Given the description of an element on the screen output the (x, y) to click on. 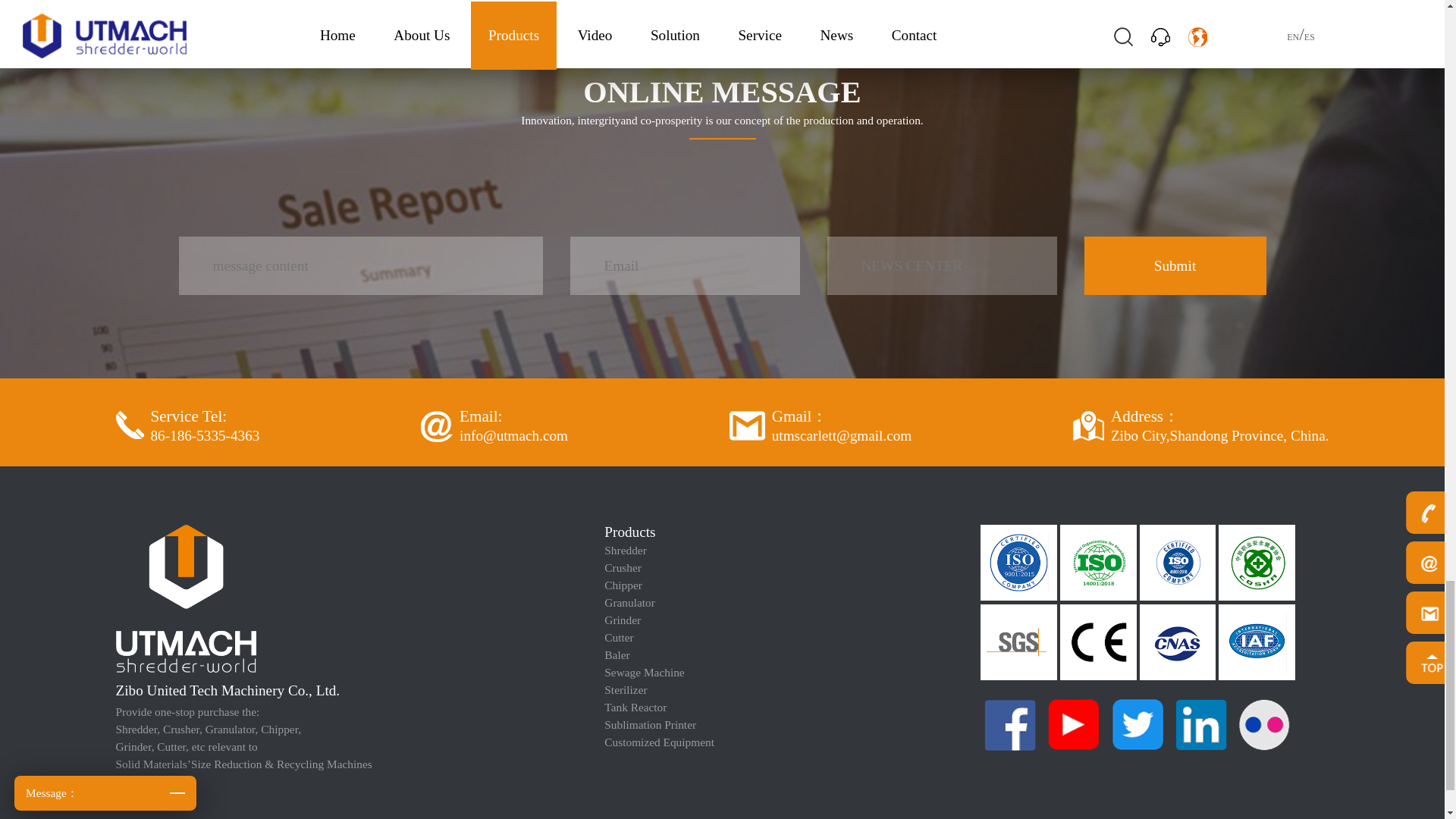
submit (1175, 265)
